Given the description of an element on the screen output the (x, y) to click on. 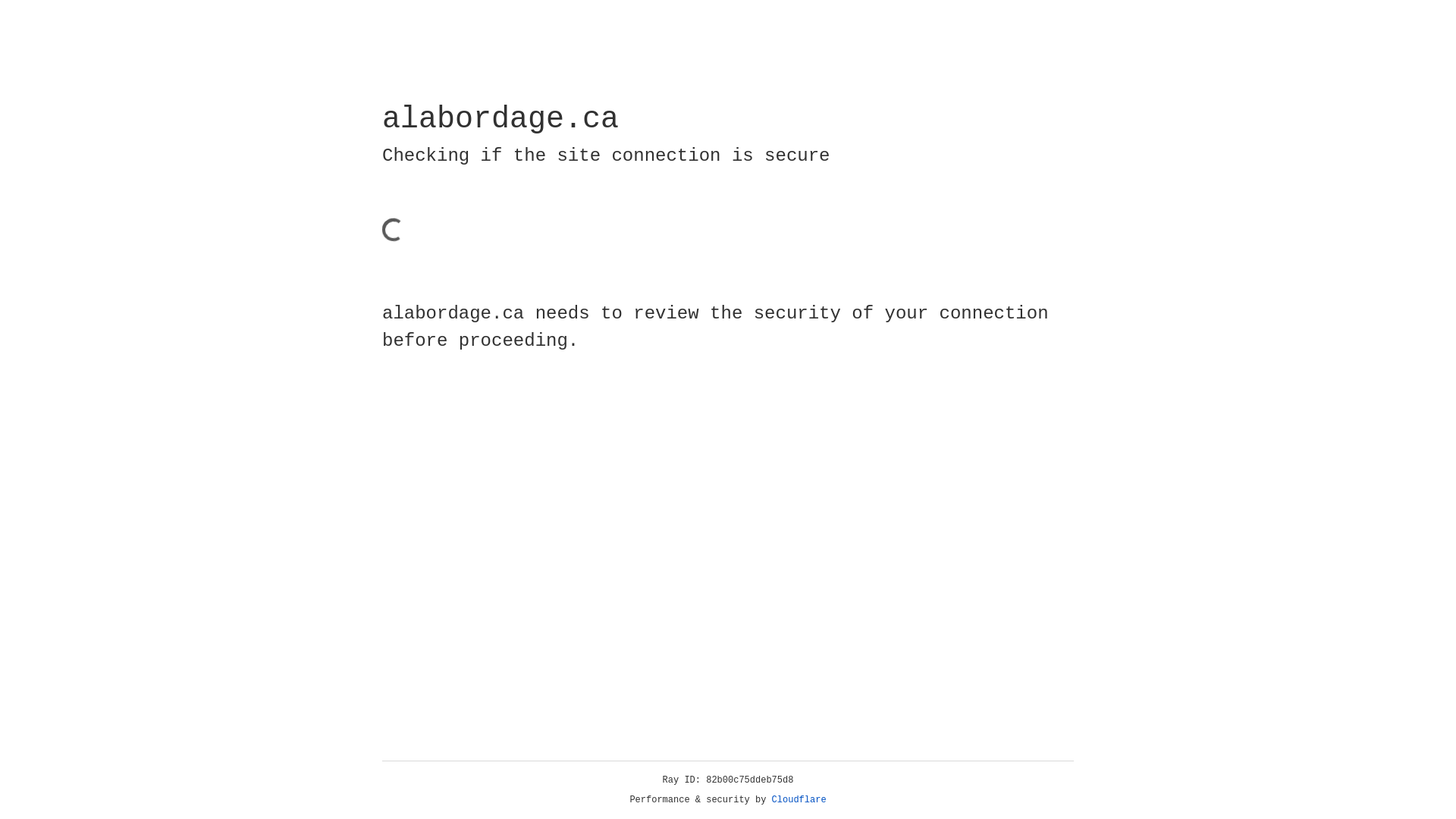
Cloudflare Element type: text (798, 799)
